Given the description of an element on the screen output the (x, y) to click on. 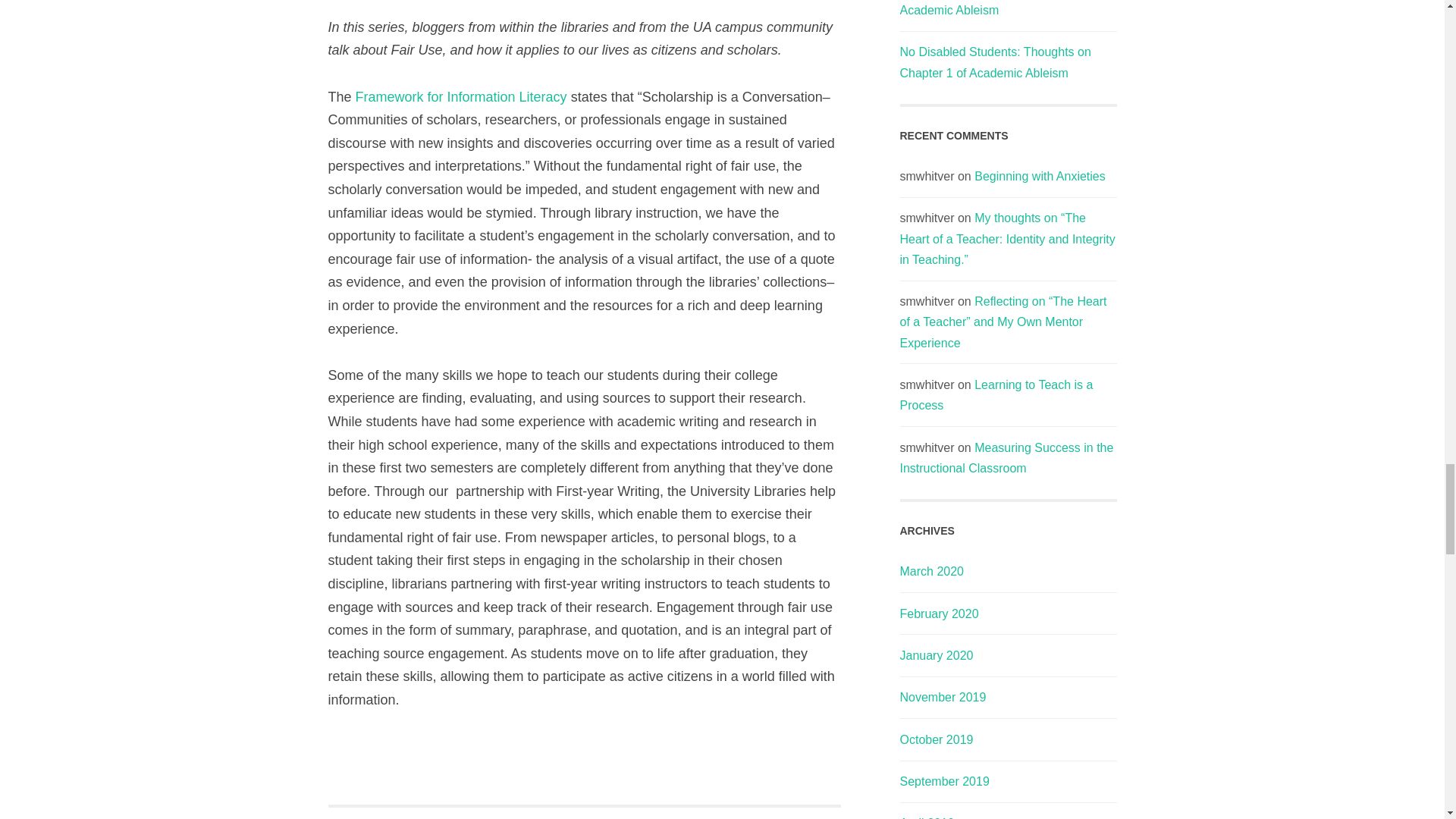
Framework for Information Literacy (462, 96)
